Given the description of an element on the screen output the (x, y) to click on. 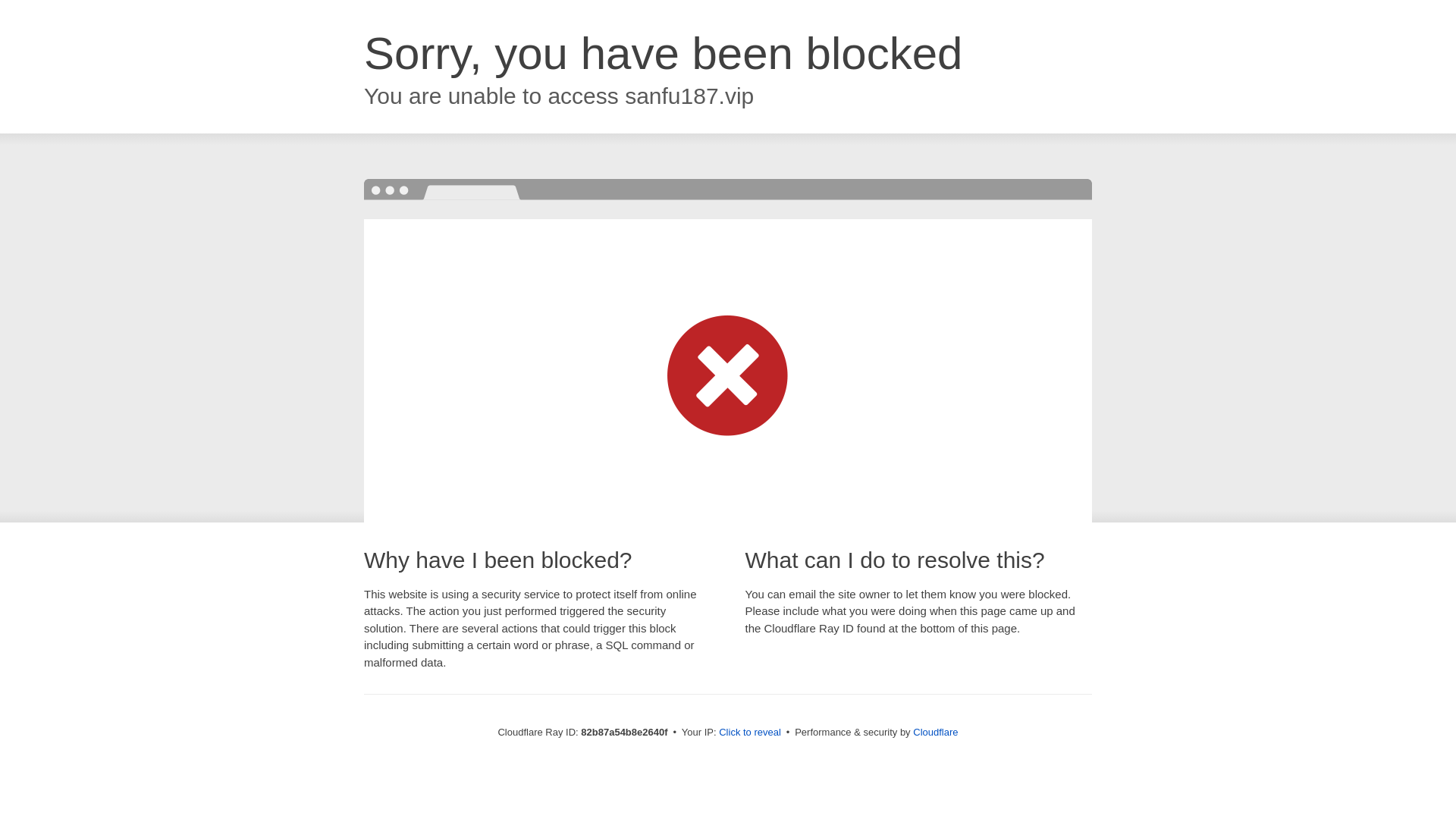
Sign up Element type: text (666, 14)
